Given the description of an element on the screen output the (x, y) to click on. 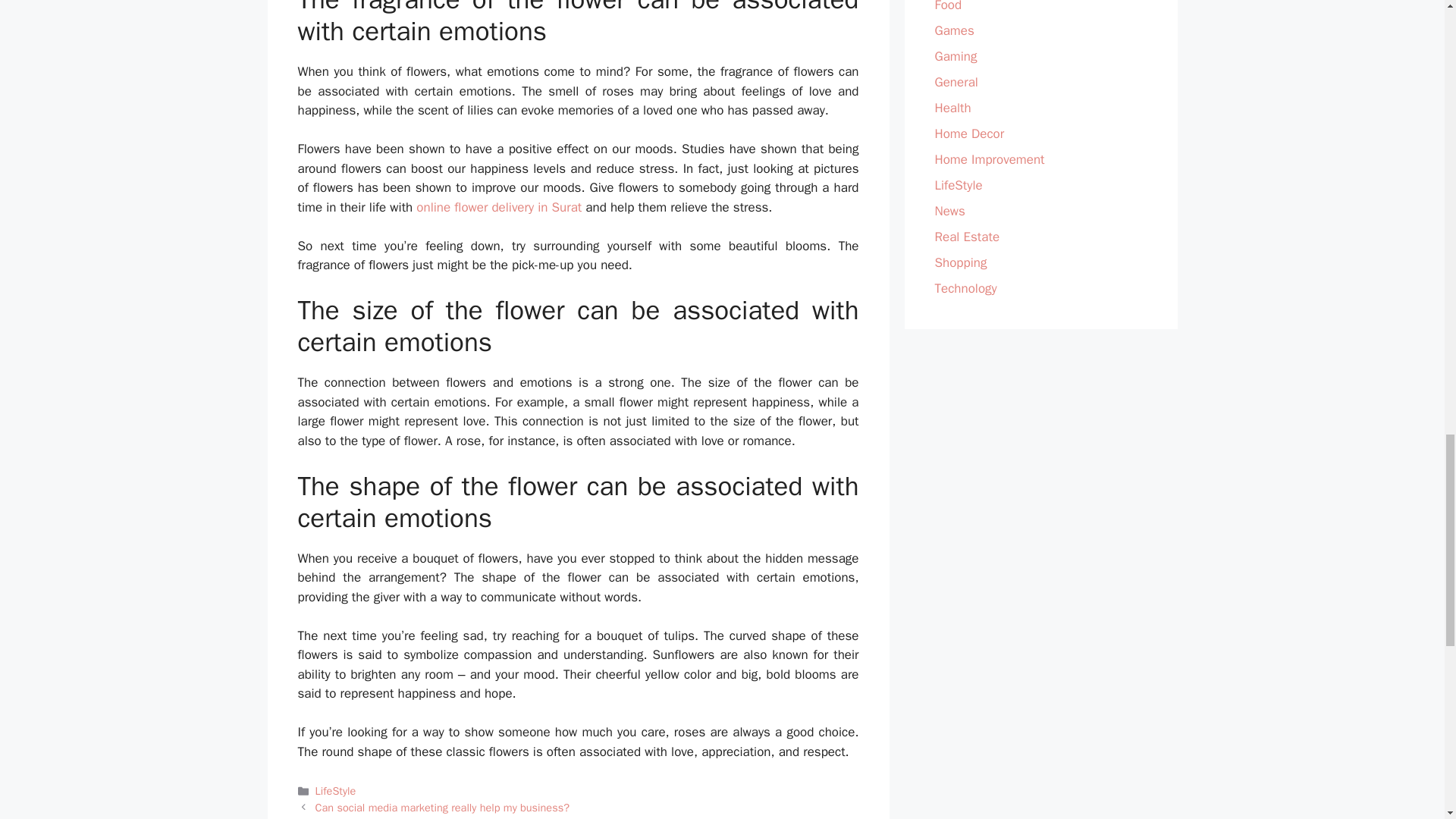
online flower delivery in Surat (498, 207)
LifeStyle (335, 790)
Advertising Agency Catania (379, 818)
Can social media marketing really help my business? (442, 807)
